Given the description of an element on the screen output the (x, y) to click on. 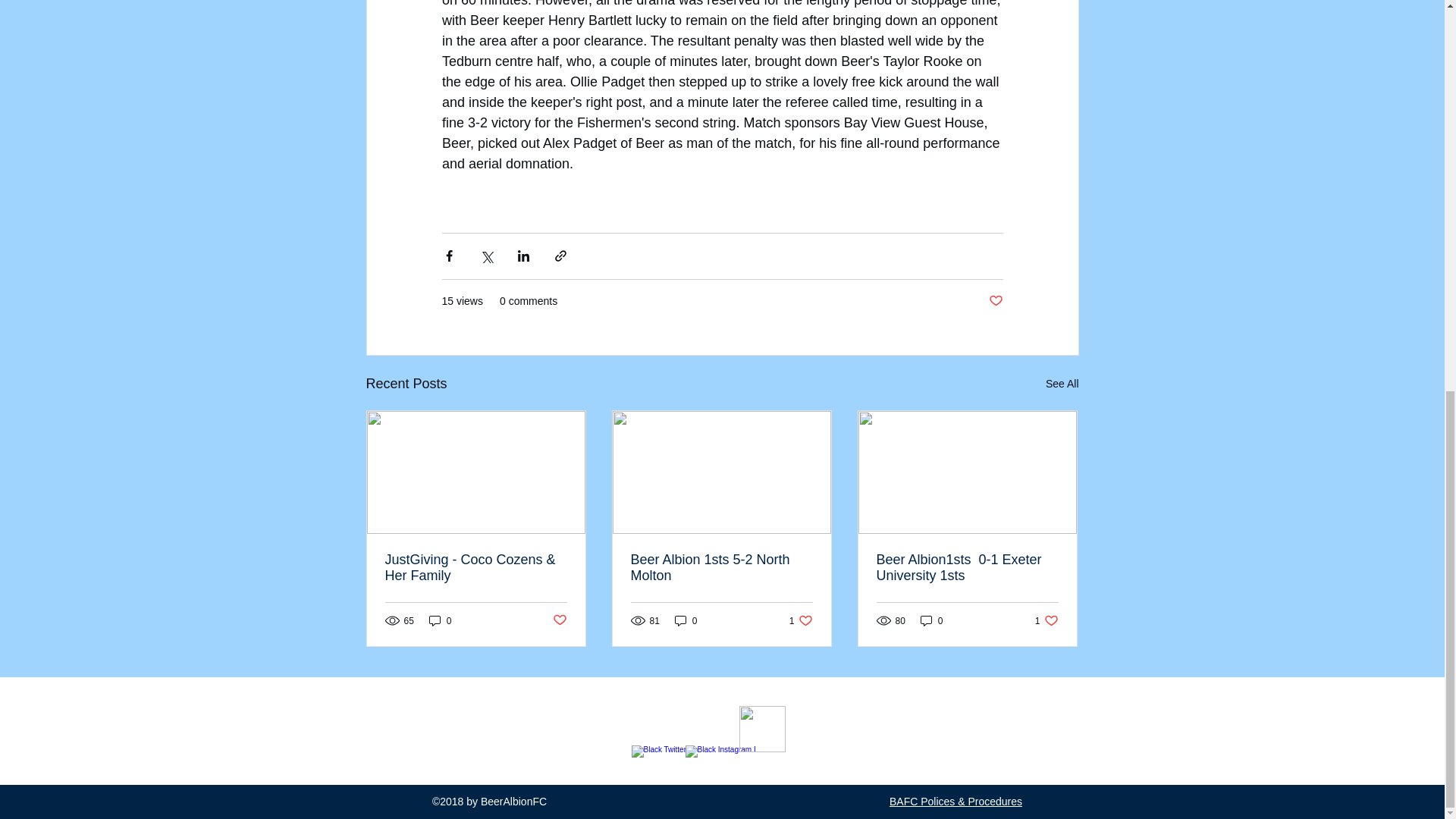
Post not marked as liked (995, 301)
See All (1061, 383)
0 (800, 620)
0 (440, 620)
0 (685, 620)
Beer Albion 1sts 5-2 North Molton  (931, 620)
Beer Albion1sts  0-1 Exeter University 1sts (1046, 620)
Post not marked as liked (721, 567)
